Given the description of an element on the screen output the (x, y) to click on. 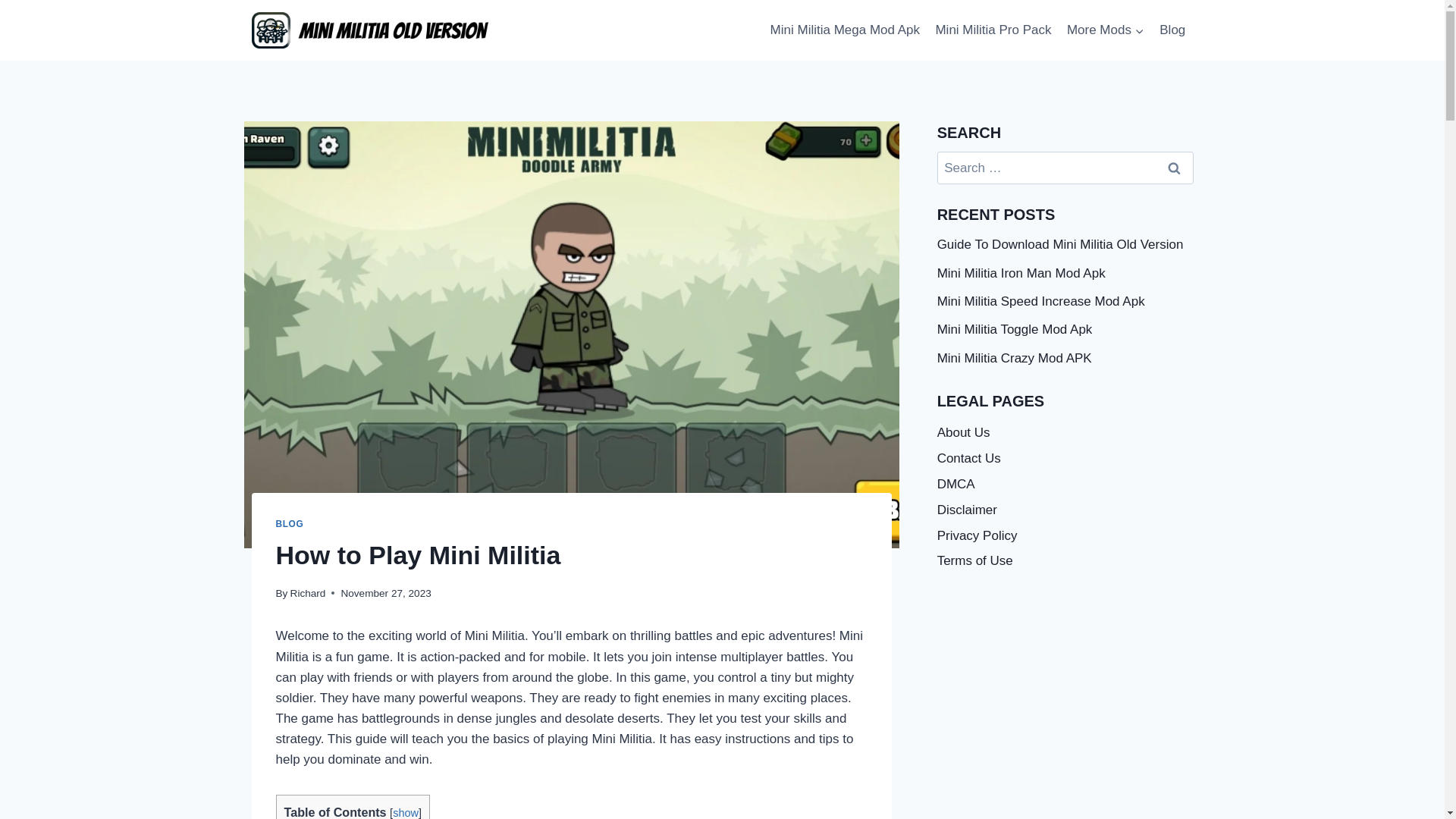
show (406, 812)
More Mods (1105, 30)
BLOG (290, 523)
Search (1174, 167)
Mini Militia Pro Pack (992, 30)
Richard (307, 593)
Blog (1171, 30)
Search (1174, 167)
Mini Militia Mega Mod Apk (844, 30)
